Given the description of an element on the screen output the (x, y) to click on. 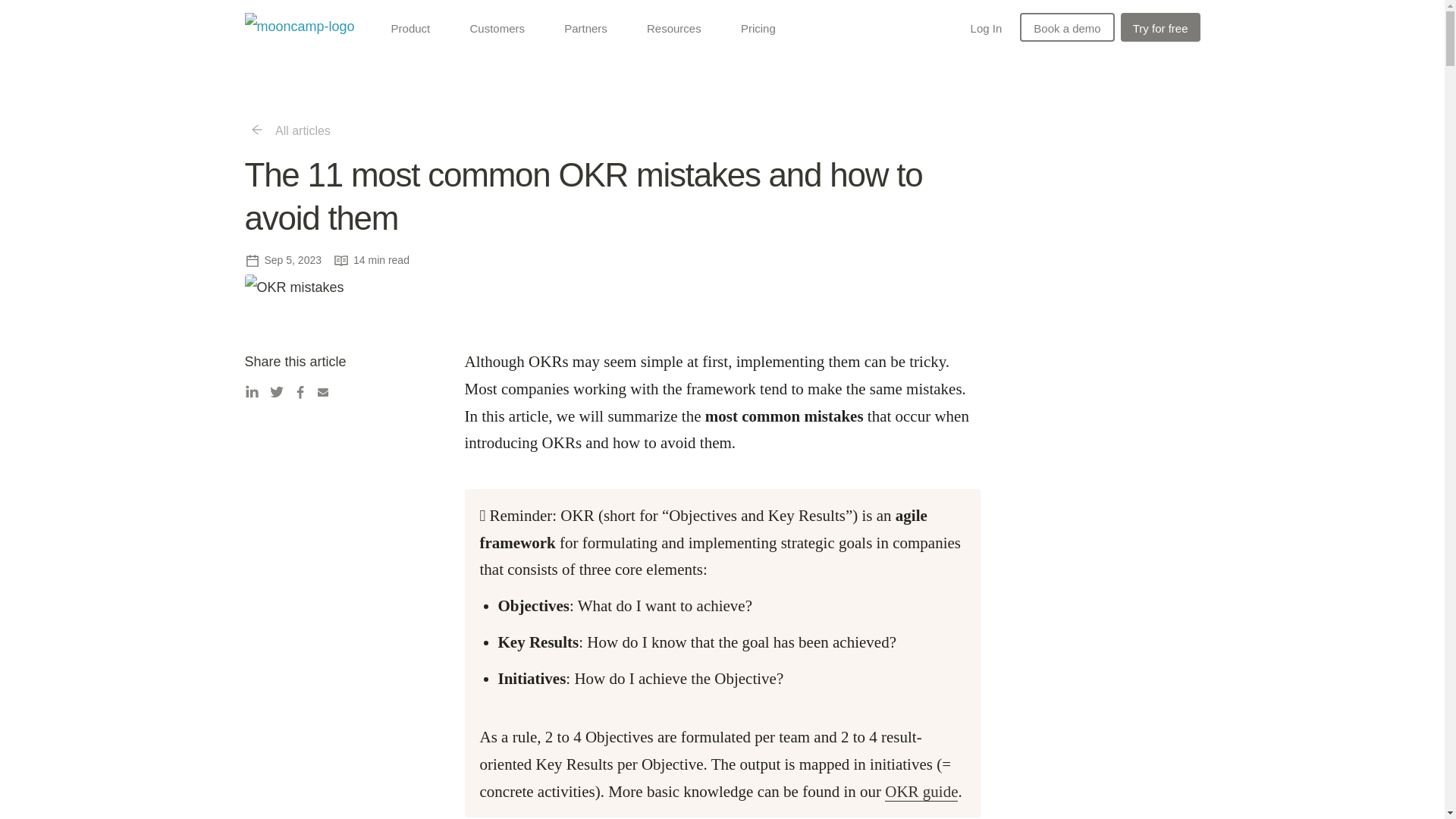
Try for free (1160, 26)
Log In (986, 27)
Pricing (758, 26)
Book a demo (1066, 27)
Log In (986, 26)
Resources (678, 27)
Partners (589, 27)
Book a demo (1066, 26)
Try for free (1160, 27)
Pricing (758, 27)
Customers (501, 27)
Share this on Facebook (304, 388)
Share this on Linkedin (255, 388)
Share this through Email (328, 388)
Product (414, 27)
